Given the description of an element on the screen output the (x, y) to click on. 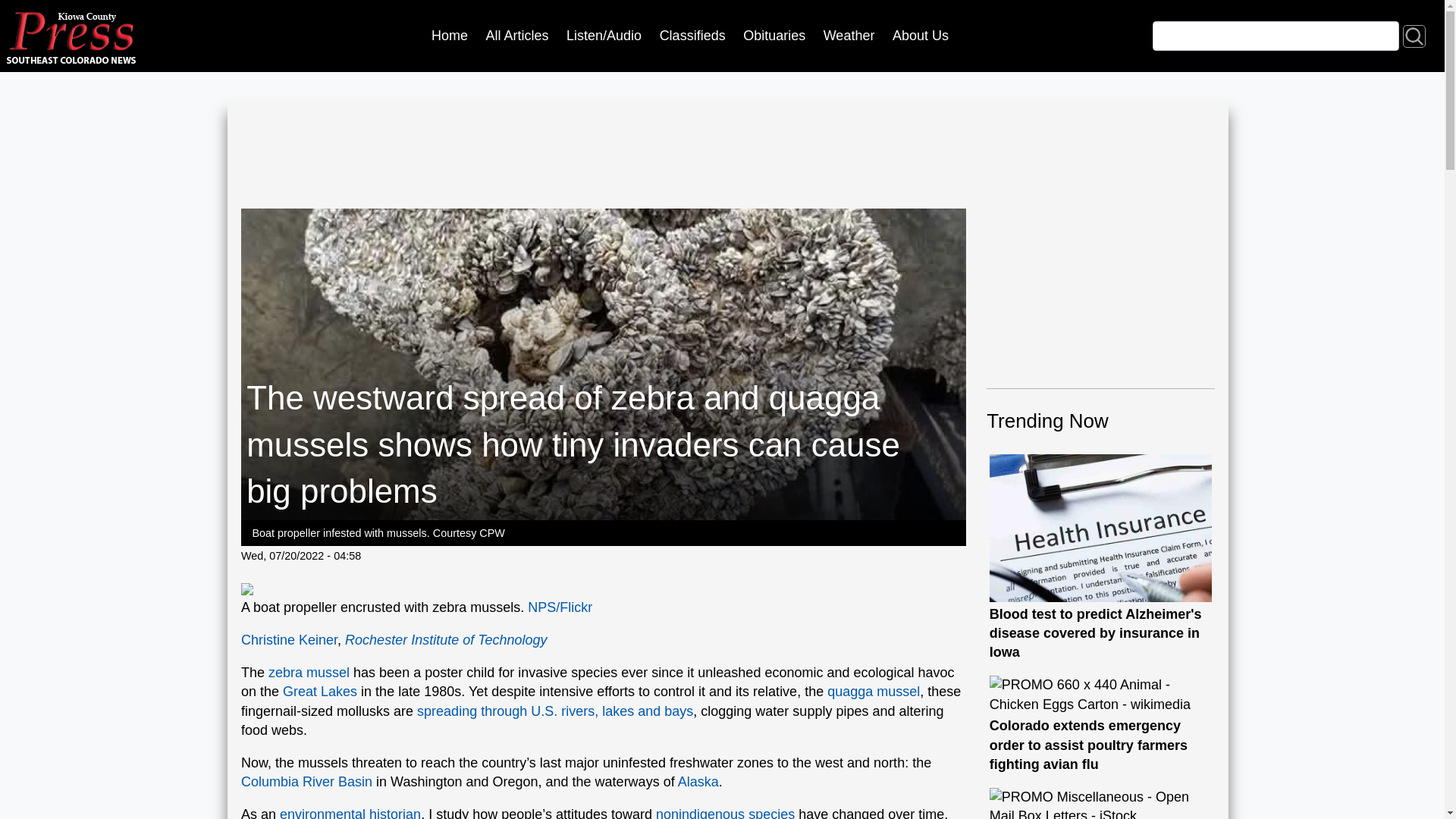
Home (449, 35)
PROMO 64J1 Miscellaneous - Open Mail Box Letters - iStock (1101, 803)
view about us page (920, 35)
Rochester Institute of Technology (446, 639)
Weather (849, 35)
About Us (920, 35)
environmental historian (349, 812)
Search (1414, 35)
Search (1414, 35)
